Given the description of an element on the screen output the (x, y) to click on. 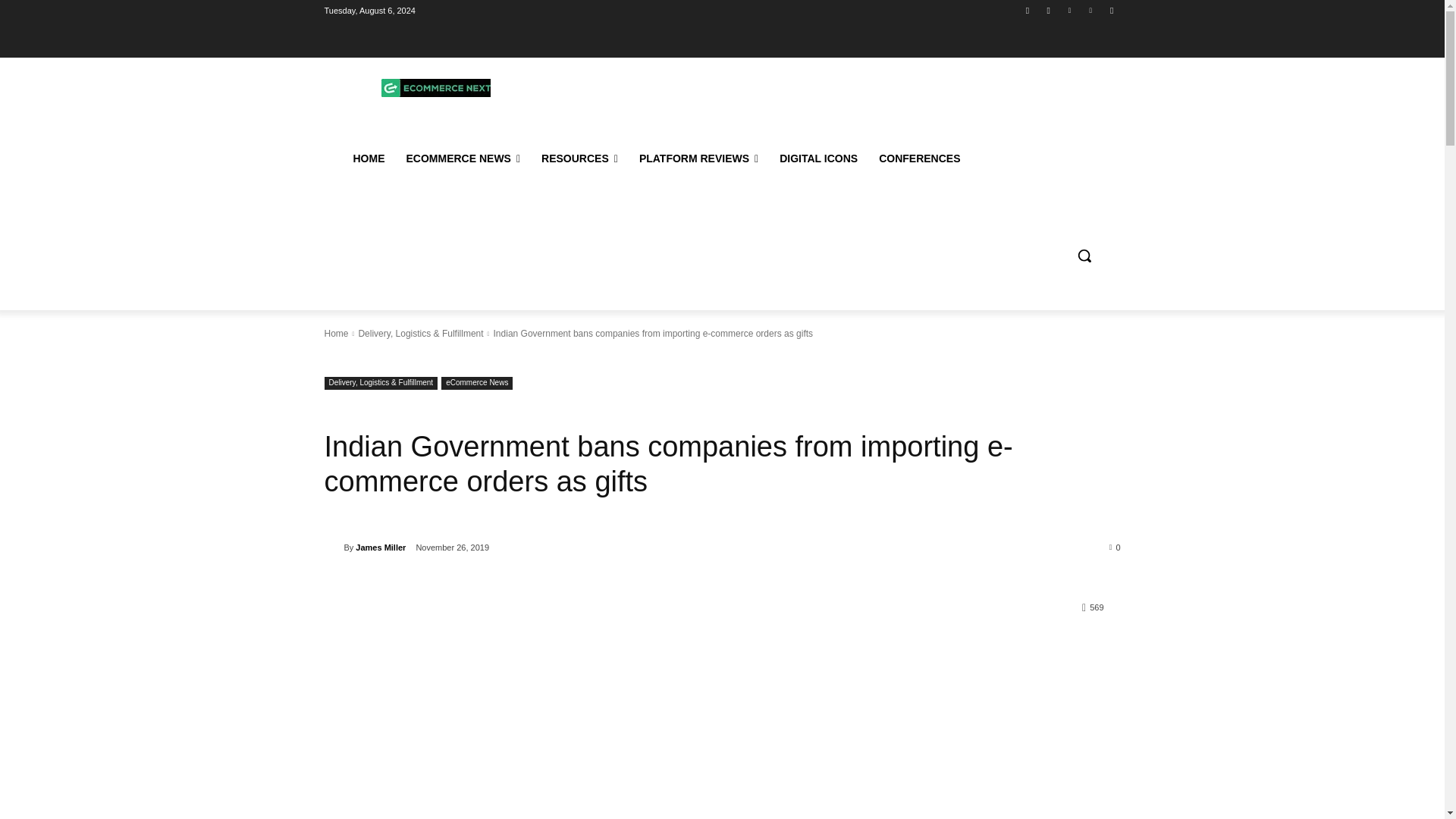
Youtube (1112, 9)
Facebook (1027, 9)
Instagram (1048, 9)
Vimeo (1090, 9)
Twitter (1069, 9)
